Given the description of an element on the screen output the (x, y) to click on. 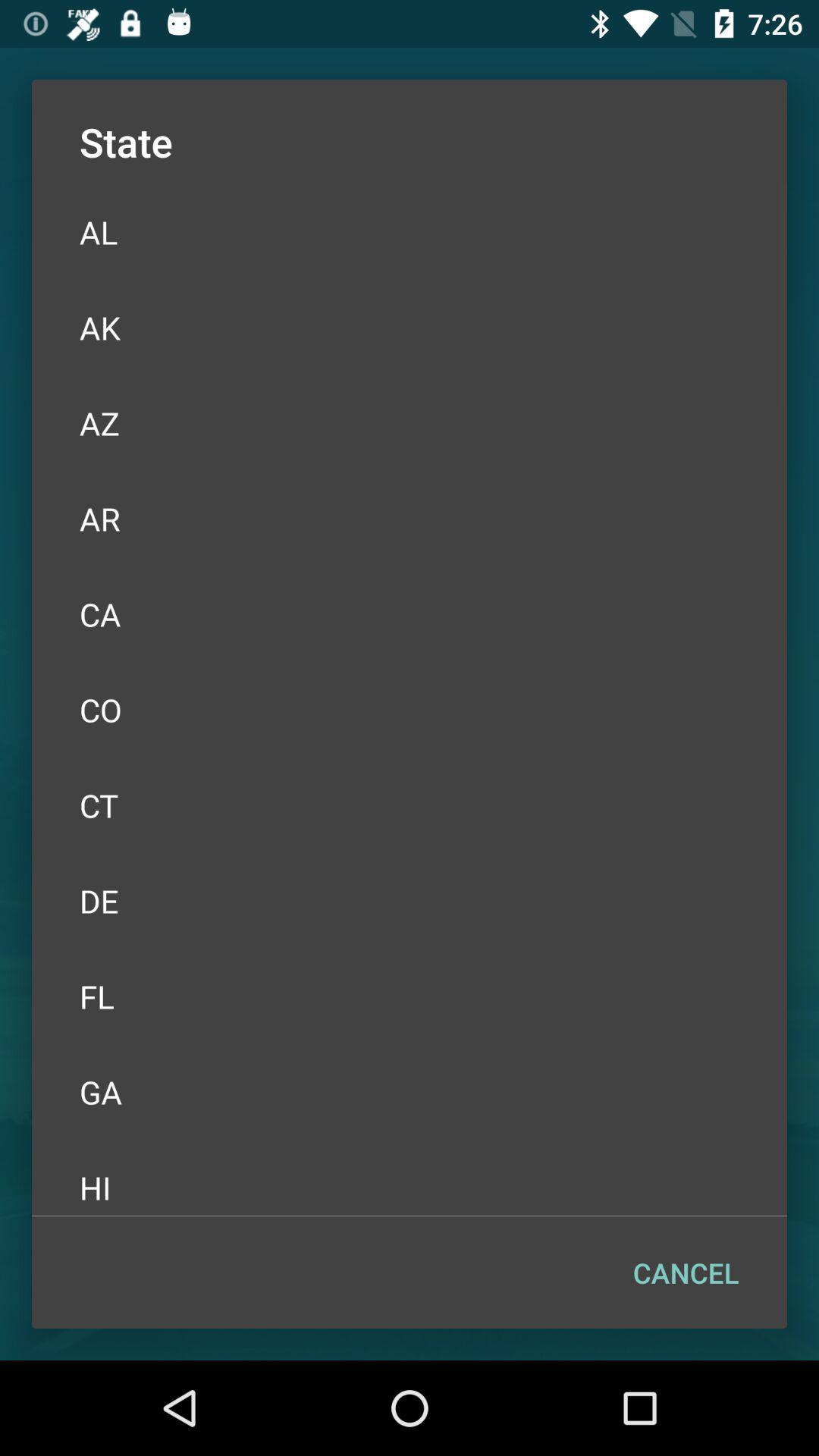
click the item below the al icon (409, 327)
